Given the description of an element on the screen output the (x, y) to click on. 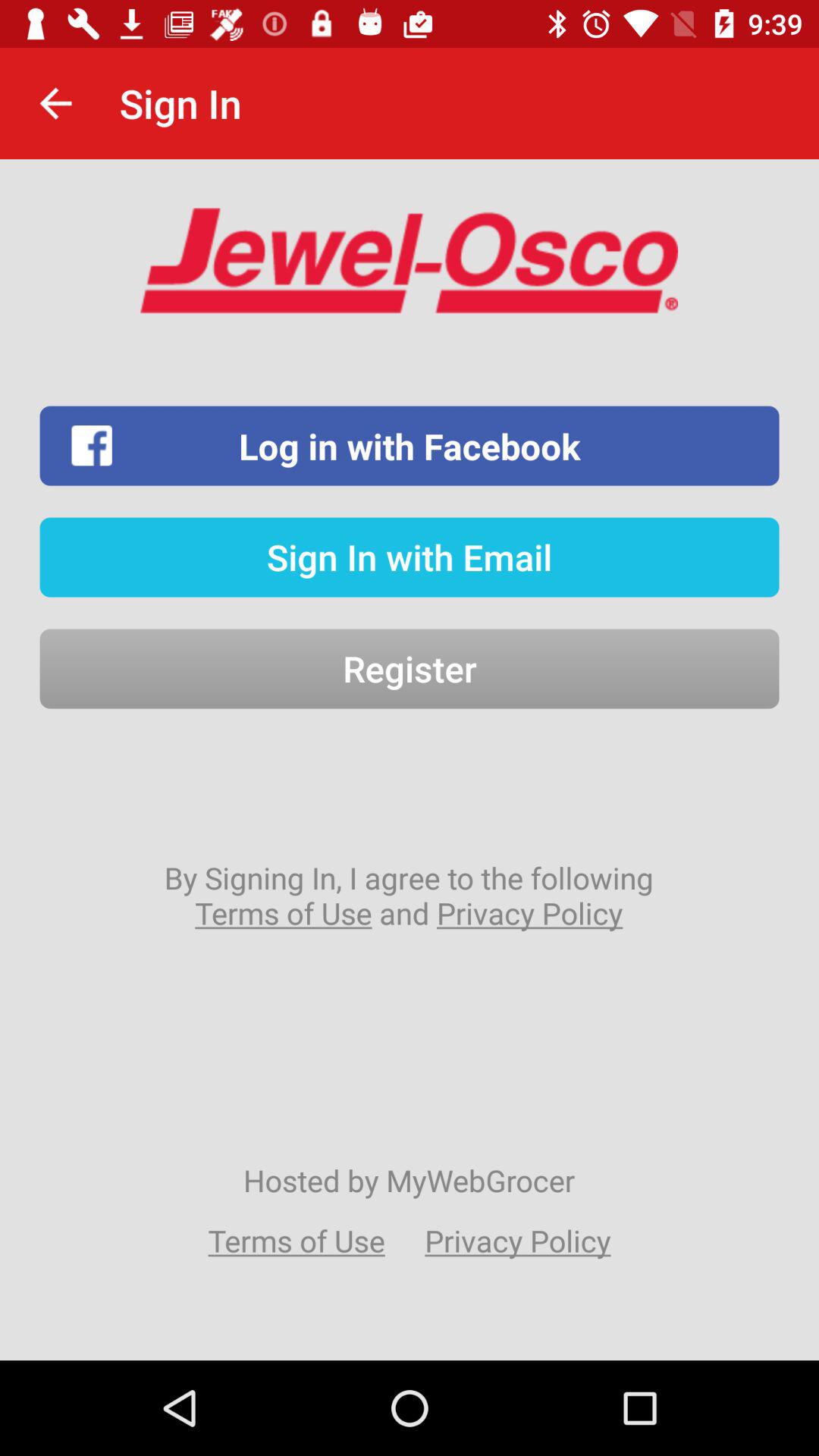
turn off icon above by signing in item (409, 668)
